Given the description of an element on the screen output the (x, y) to click on. 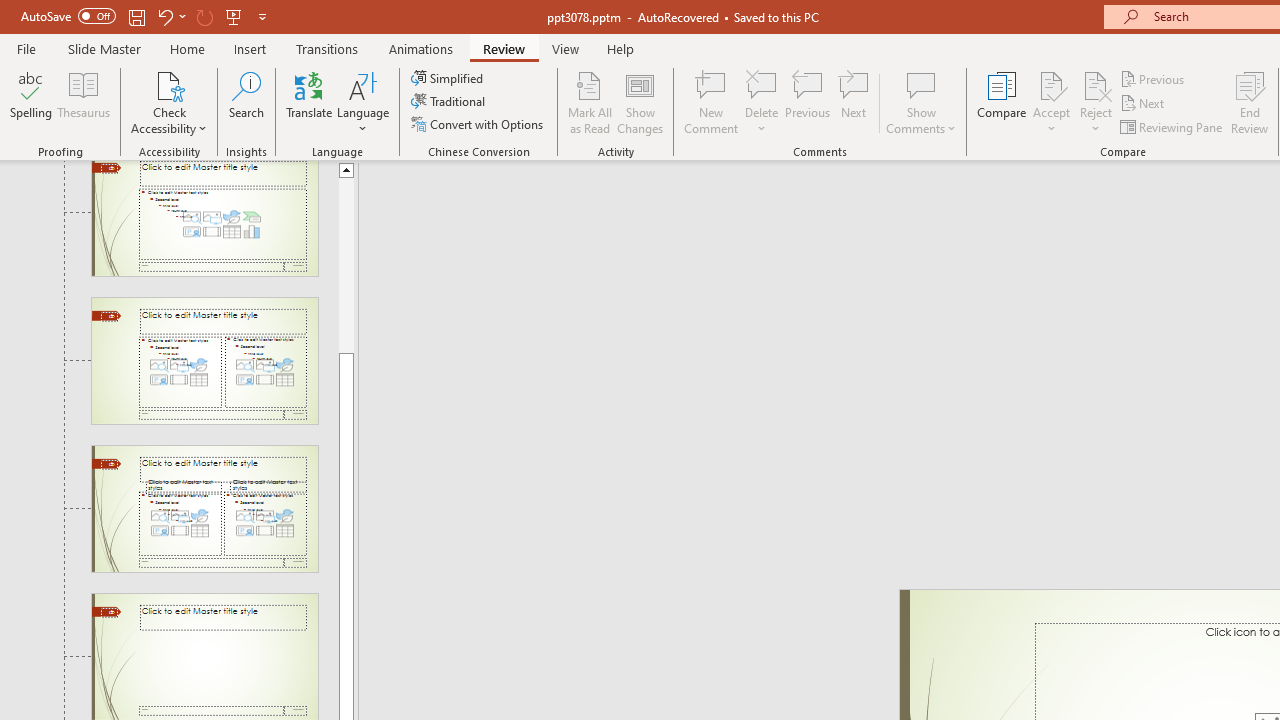
Compare (1002, 102)
Slide Two Content Layout: used by no slides (204, 361)
Convert with Options... (479, 124)
Translate (309, 102)
End Review (1249, 102)
Slide Title Only Layout: used by no slides (204, 657)
Thesaurus... (83, 102)
Previous (1153, 78)
New Comment (711, 102)
Reviewing Pane (1172, 126)
